Given the description of an element on the screen output the (x, y) to click on. 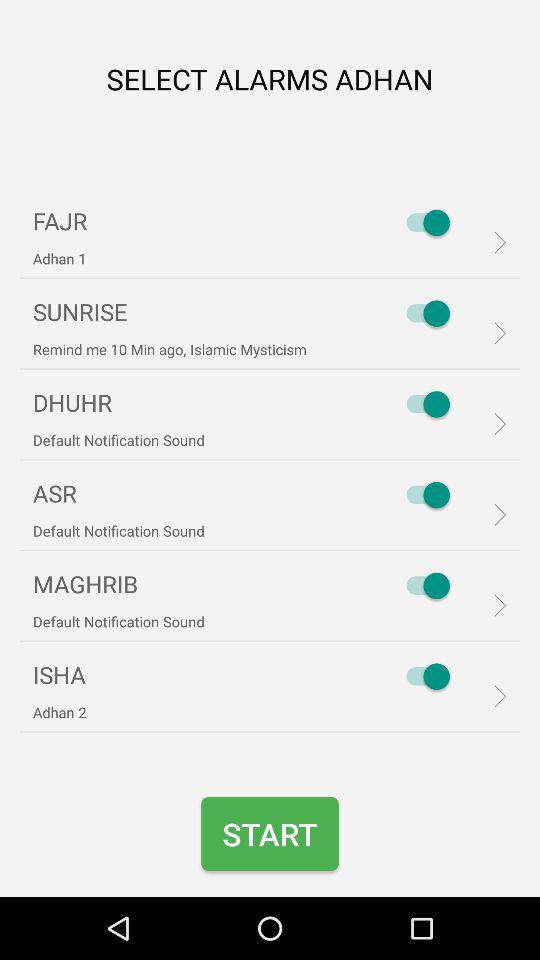
choose icon to the right of adhan 2 icon (423, 676)
